Given the description of an element on the screen output the (x, y) to click on. 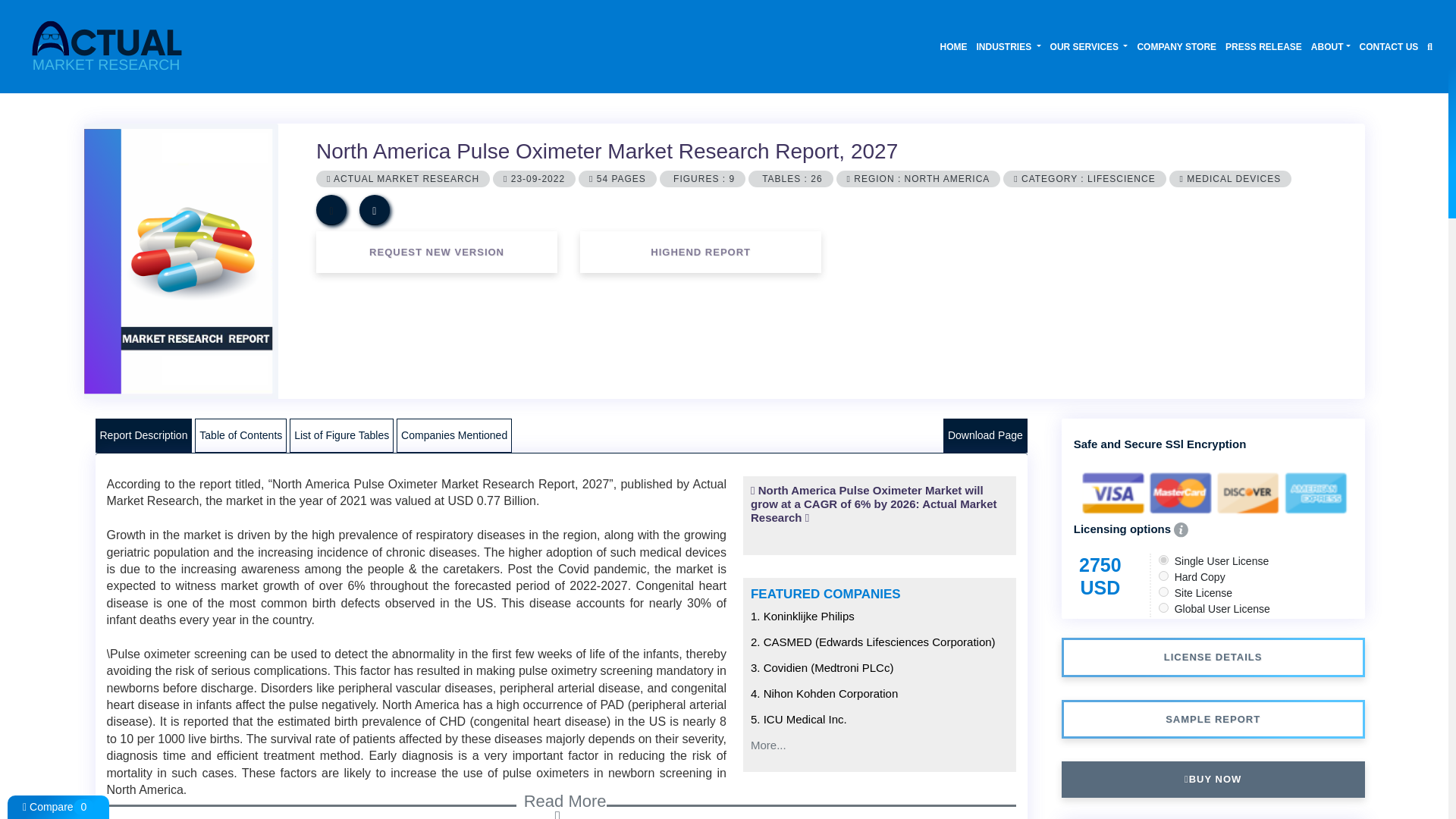
4 (1163, 607)
INDUSTRIES (1008, 45)
HOME (954, 45)
3 (1163, 592)
1 (1163, 560)
2 (1163, 575)
compare (330, 209)
